Given the description of an element on the screen output the (x, y) to click on. 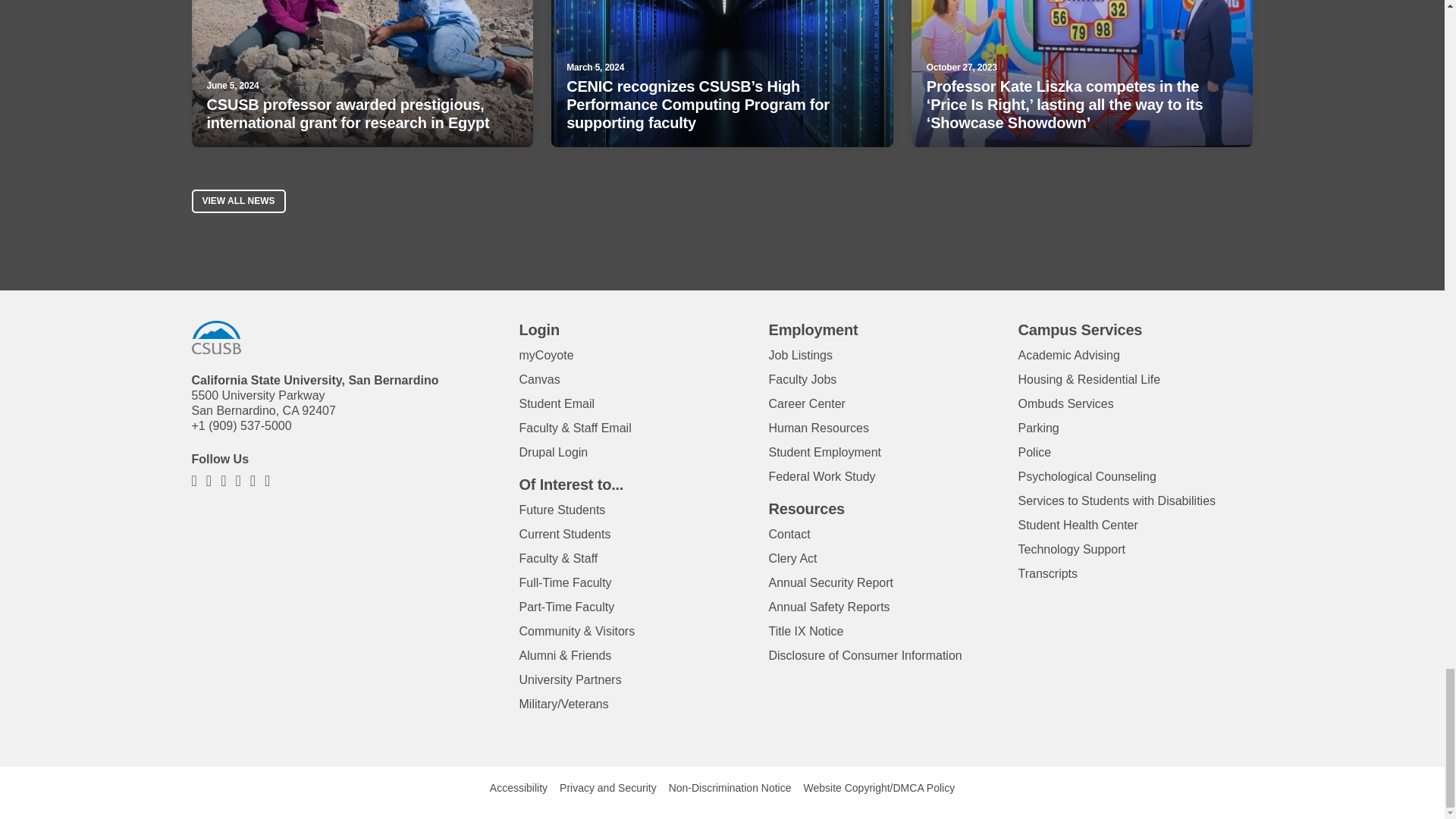
CSUSB (215, 337)
Directs to "Future Students" landing page (561, 509)
Directs to "Current Students" landing page (564, 533)
